Given the description of an element on the screen output the (x, y) to click on. 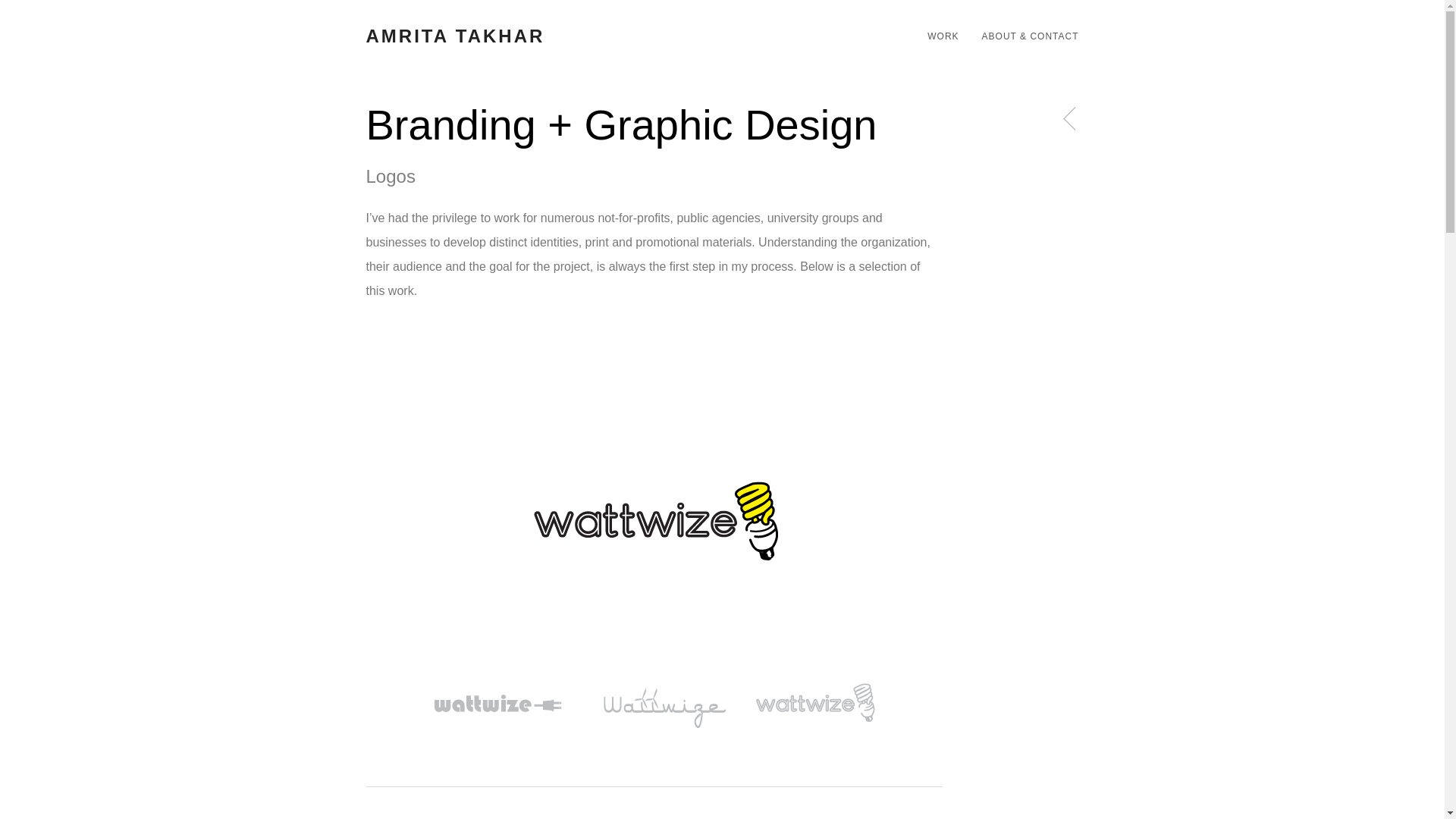
AMRITA TAKHAR Element type: text (471, 36)
Previous Post Element type: text (1069, 118)
ABOUT & CONTACT Element type: text (1024, 36)
WORK Element type: text (937, 36)
